Given the description of an element on the screen output the (x, y) to click on. 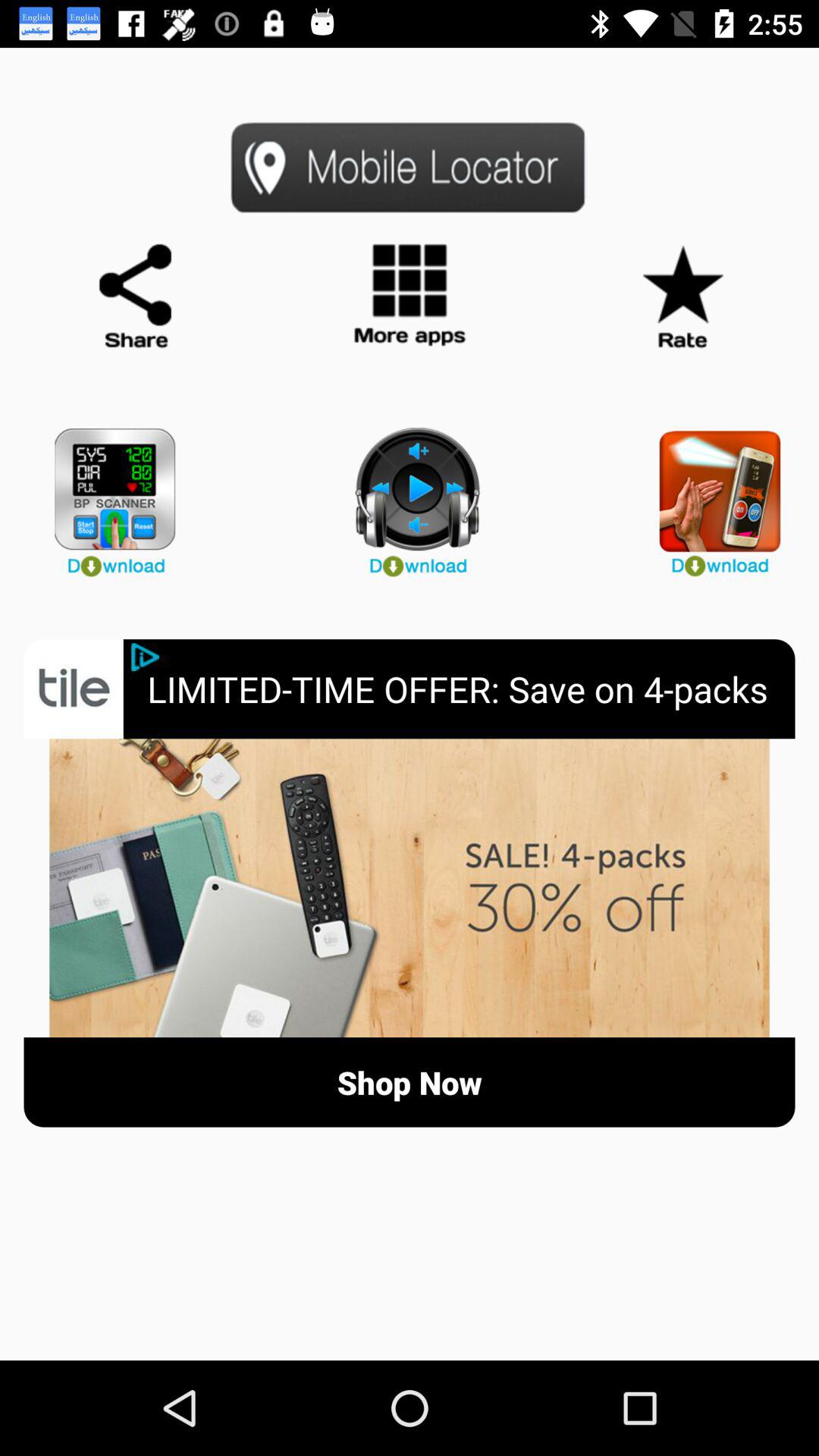
select shop now item (409, 1082)
